Given the description of an element on the screen output the (x, y) to click on. 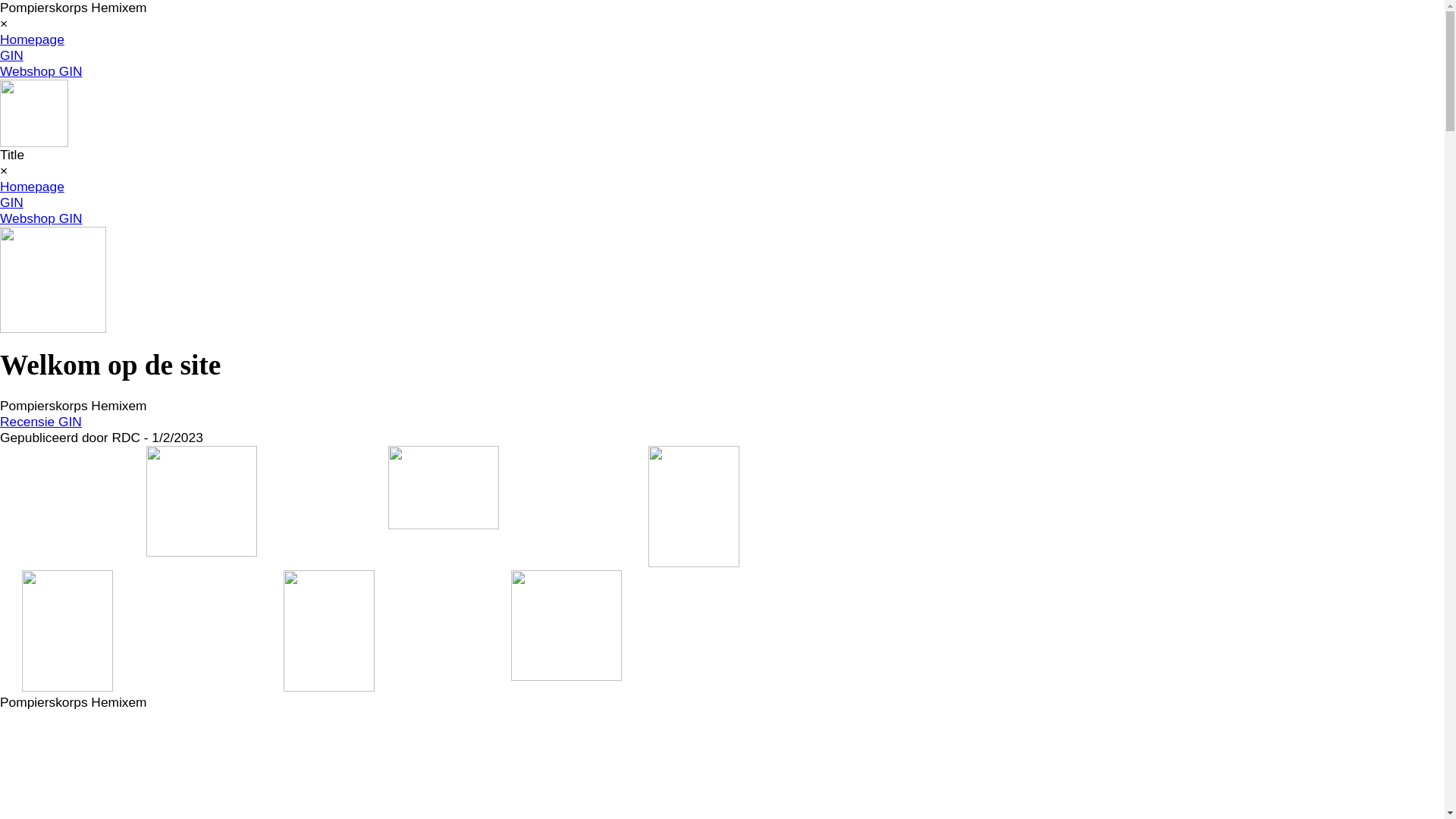
Homepage Element type: text (32, 39)
Webshop GIN Element type: text (41, 217)
Webshop GIN Element type: text (41, 70)
GIN Element type: text (11, 54)
Homepage Element type: text (32, 186)
Recensie GIN Element type: text (40, 421)
GIN Element type: text (11, 202)
